Given the description of an element on the screen output the (x, y) to click on. 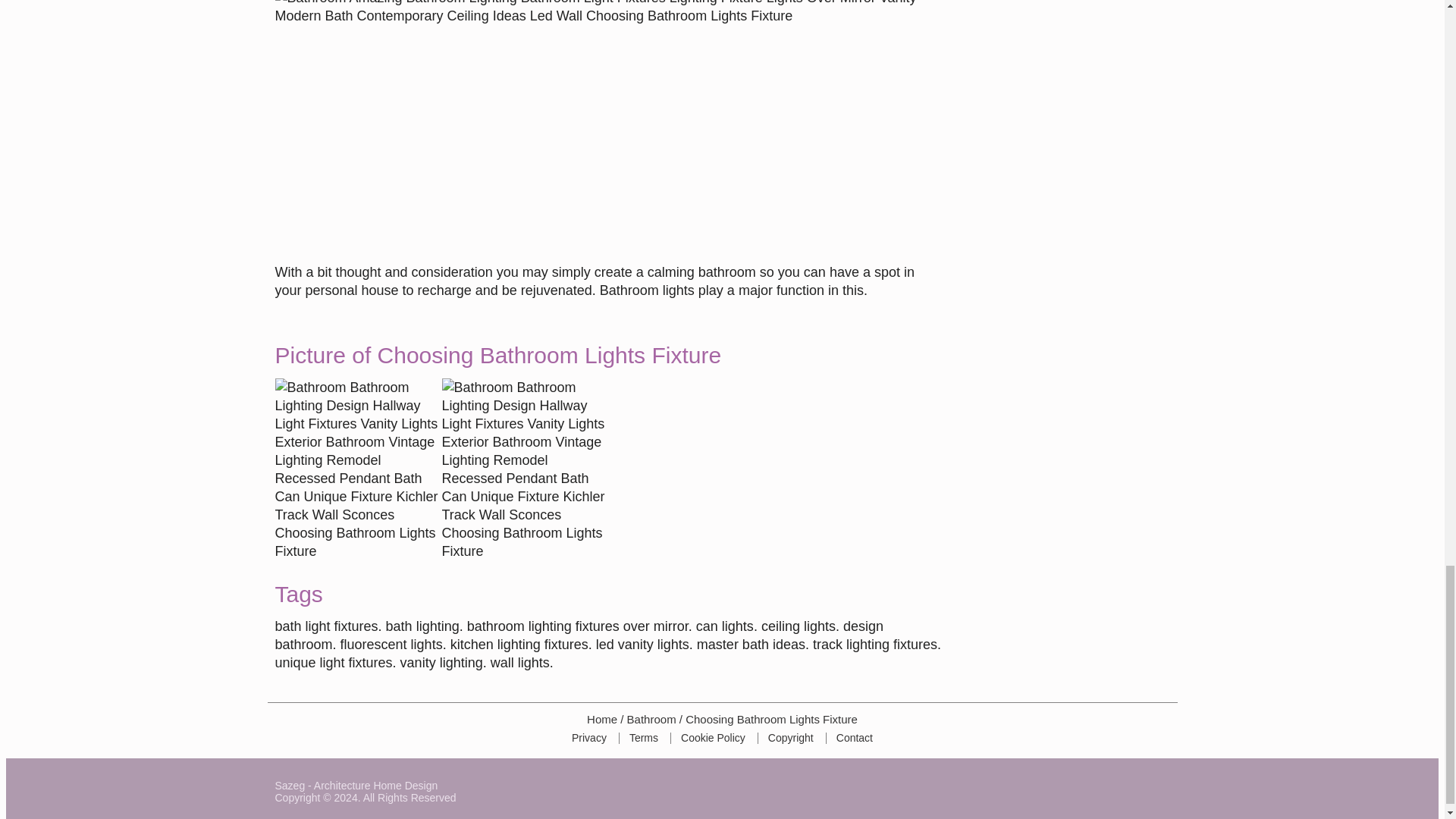
bath lighting (422, 626)
bathroom lighting fixtures over mirror (577, 626)
can lights (724, 626)
bathroom lighting fixtures over mirror (577, 626)
bath light fixtures (326, 626)
kitchen lighting fixtures (518, 644)
ceiling lights (798, 626)
wall lights (520, 662)
led vanity lights (641, 644)
